Given the description of an element on the screen output the (x, y) to click on. 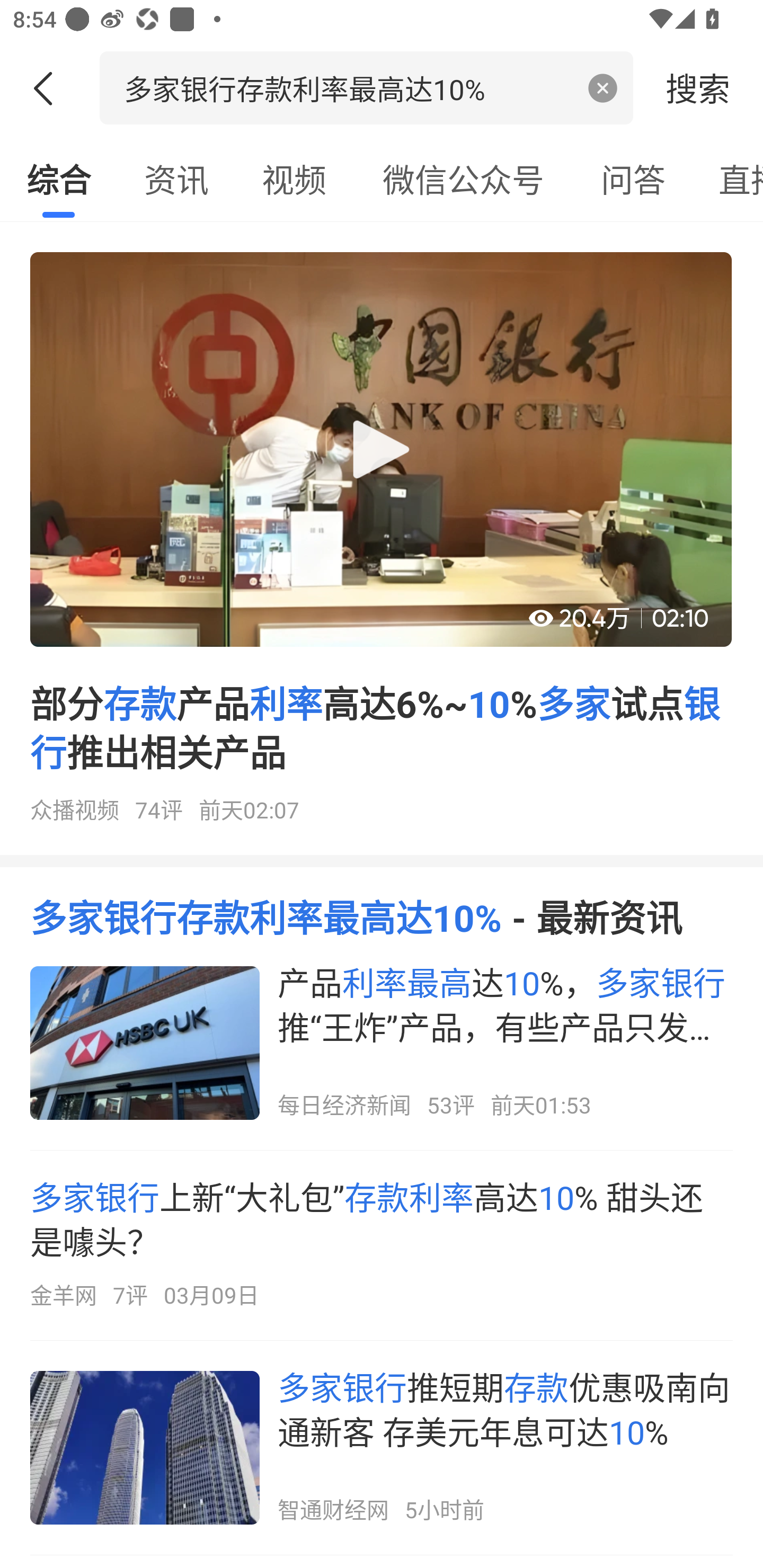
返回 (49, 87)
搜索 (698, 87)
多家银行存款利率最高达10% (347, 87)
清空 (602, 88)
已选中综合 (58, 179)
资讯，可选中 (176, 179)
视频，可选中 (293, 179)
微信公众号，可选中 (463, 179)
问答，可选中 (633, 179)
部分存款产品利率高达6%~10% 多家试点银行推出相关产品 (381, 544)
产品利率最高达10%，多家银行推“王炸”产品，有些产品只发售到本月底 (381, 1042)
多家银行上新“大礼包”存款利率高达10% 甜头还是噱头？ (381, 1244)
多家银行推短期存款优惠吸南向通新客 存美元年息可达10% (381, 1447)
